Given the description of an element on the screen output the (x, y) to click on. 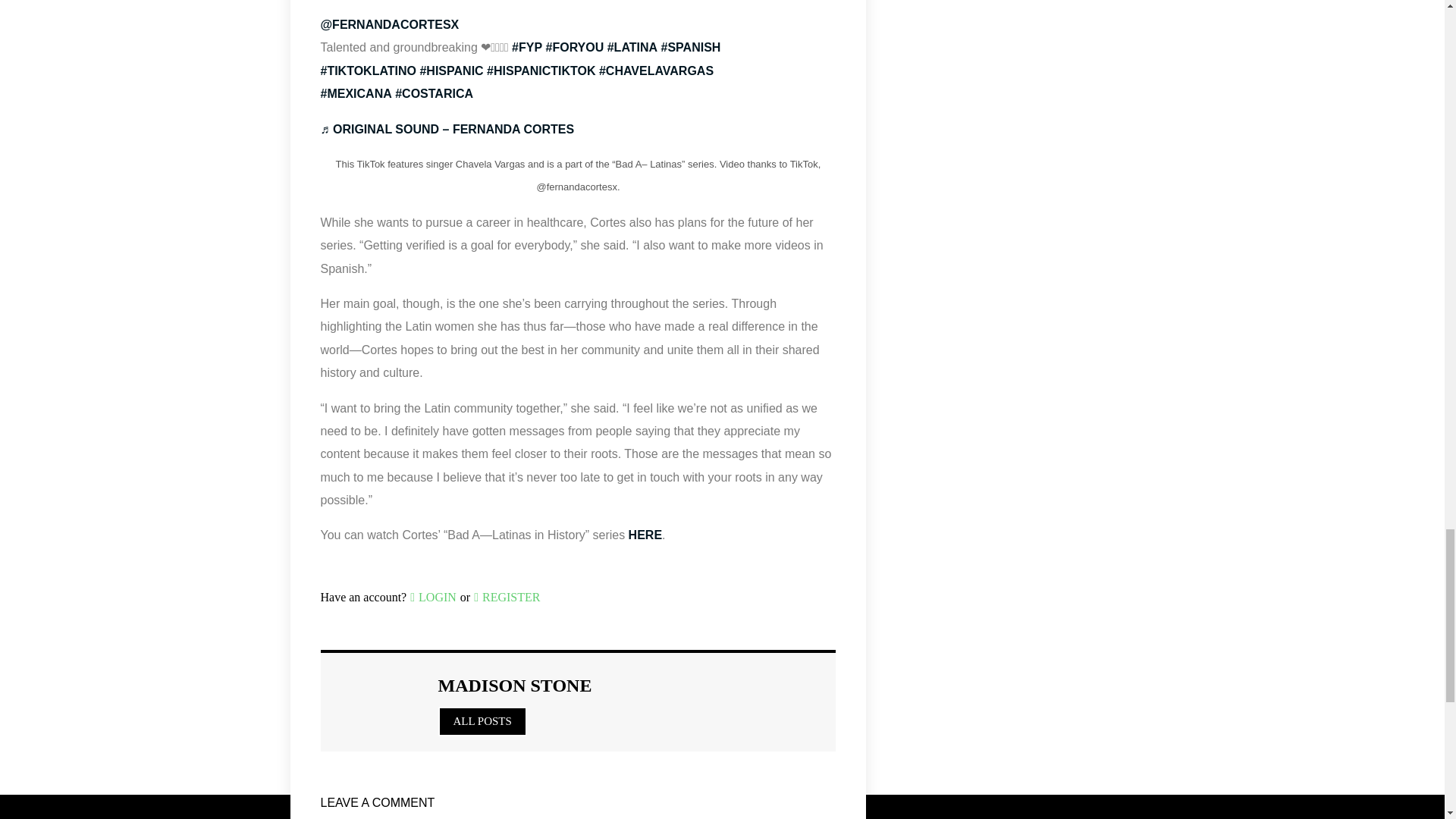
chavelavargas (655, 70)
costarica (433, 92)
latina (632, 47)
mexicana (355, 92)
foryou (575, 47)
hispanictiktok (540, 70)
fyp (526, 47)
tiktoklatino (368, 70)
spanish (690, 47)
hispanic (451, 70)
